Given the description of an element on the screen output the (x, y) to click on. 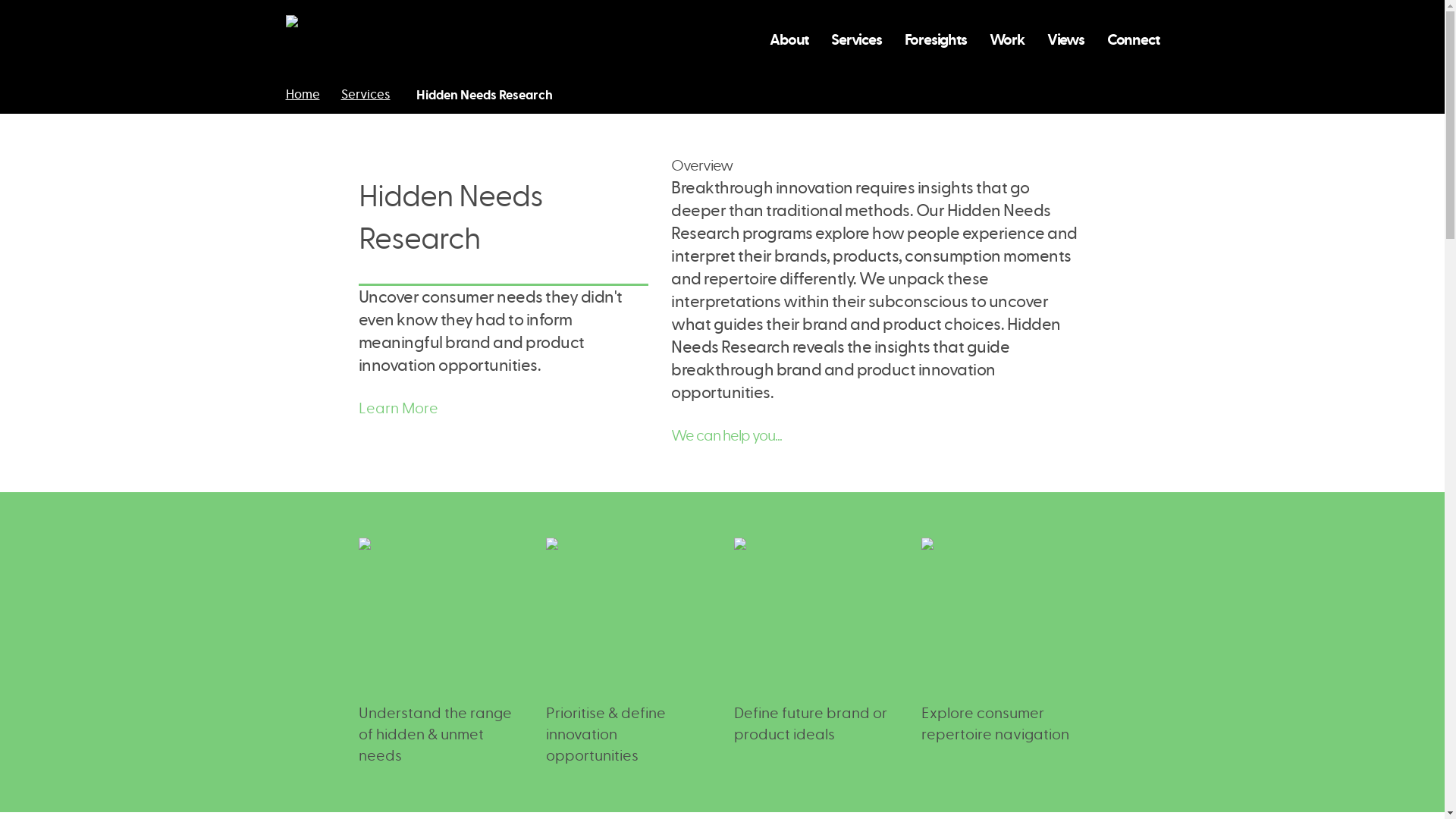
Home (303, 94)
Foresights (935, 39)
Services (855, 39)
Work (1006, 39)
About (788, 39)
Services (365, 94)
Learn More (398, 408)
Connect (1133, 39)
Views (1065, 39)
